Given the description of an element on the screen output the (x, y) to click on. 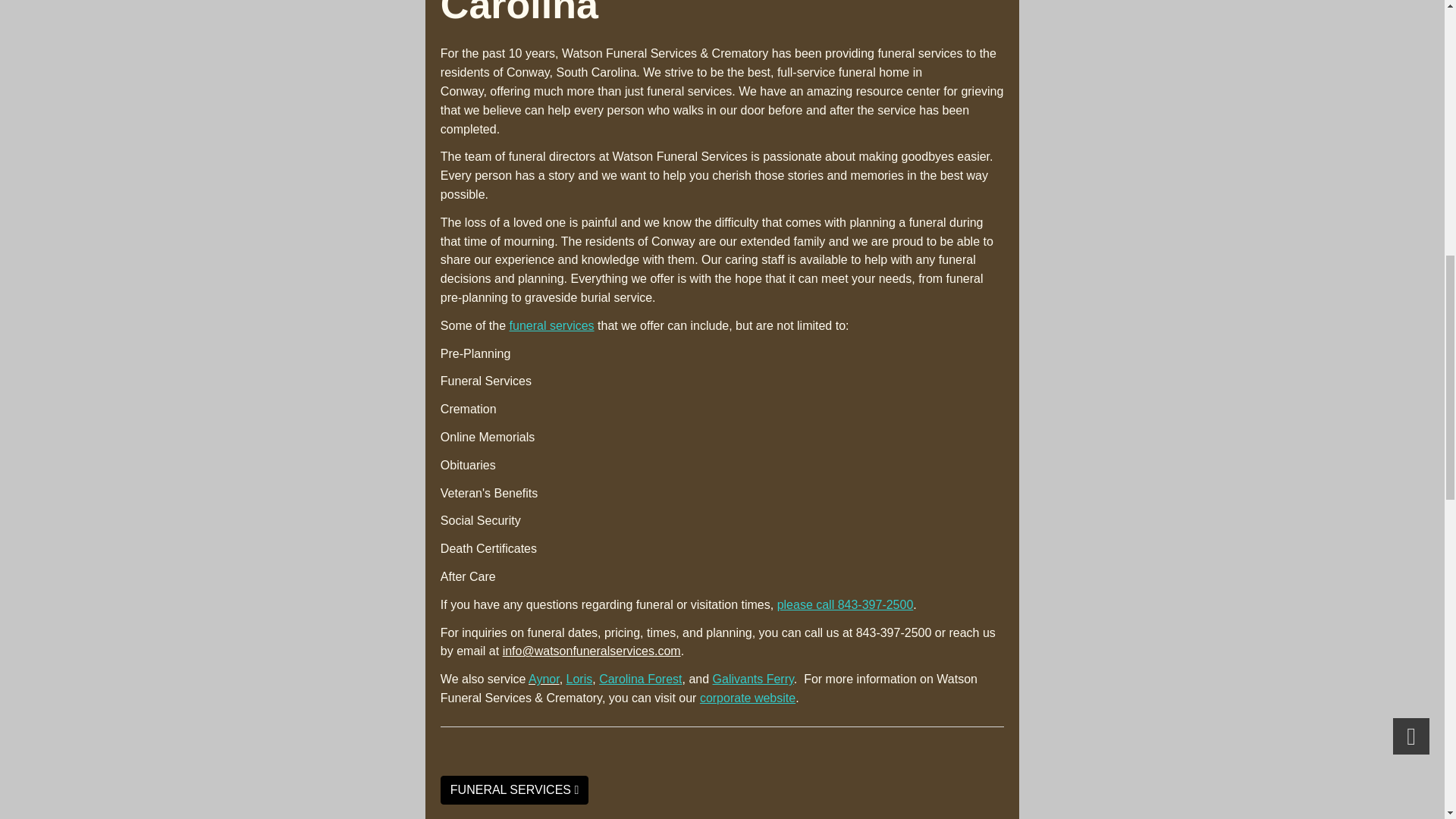
Aynor (543, 678)
Galivants Ferry (753, 678)
please call 843-397-2500 (845, 604)
funeral services (551, 325)
corporate website (747, 697)
Carolina Forest (639, 678)
Loris (579, 678)
FUNERAL SERVICES (514, 790)
